Given the description of an element on the screen output the (x, y) to click on. 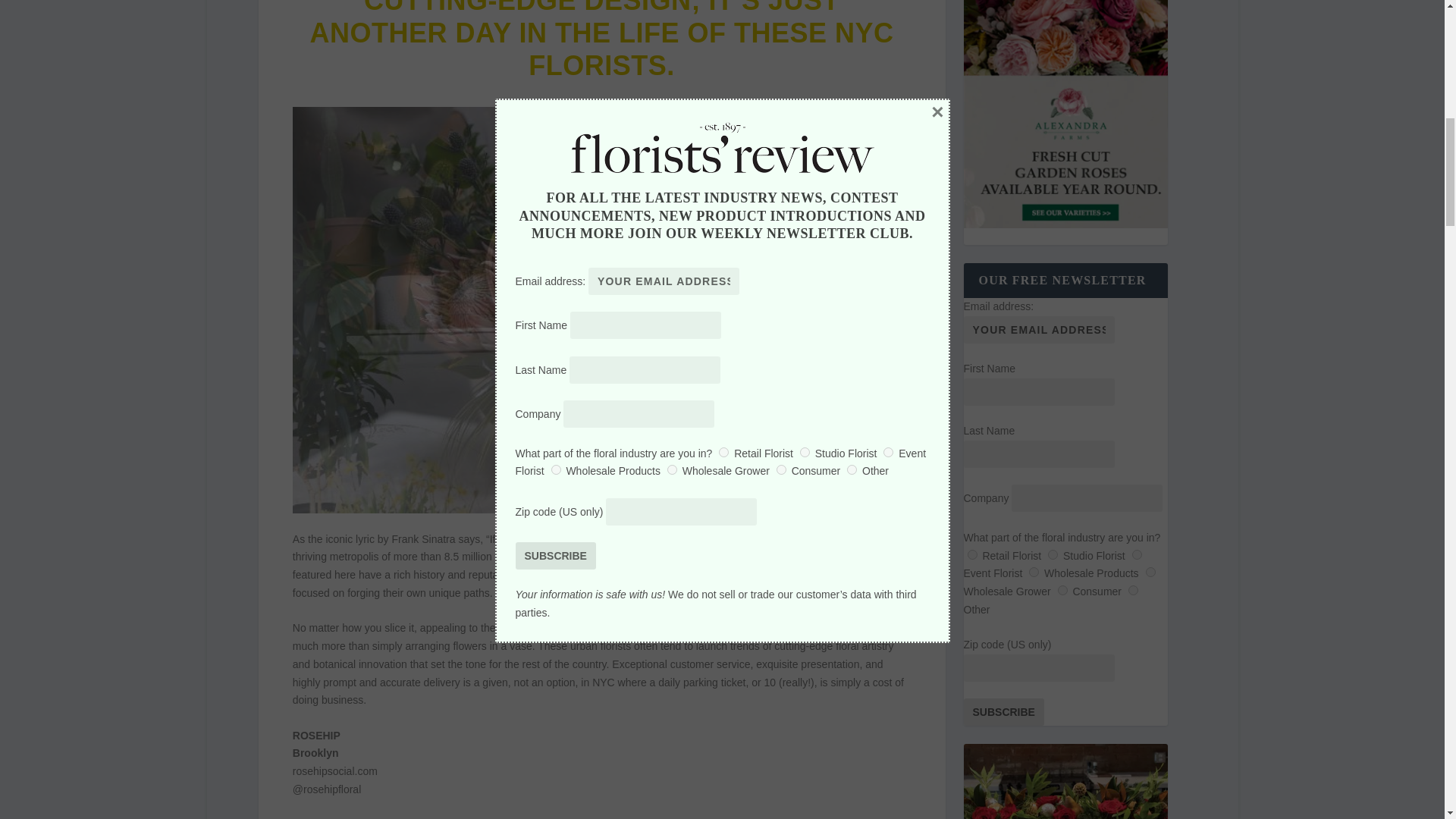
Retail Florist (972, 554)
